Given the description of an element on the screen output the (x, y) to click on. 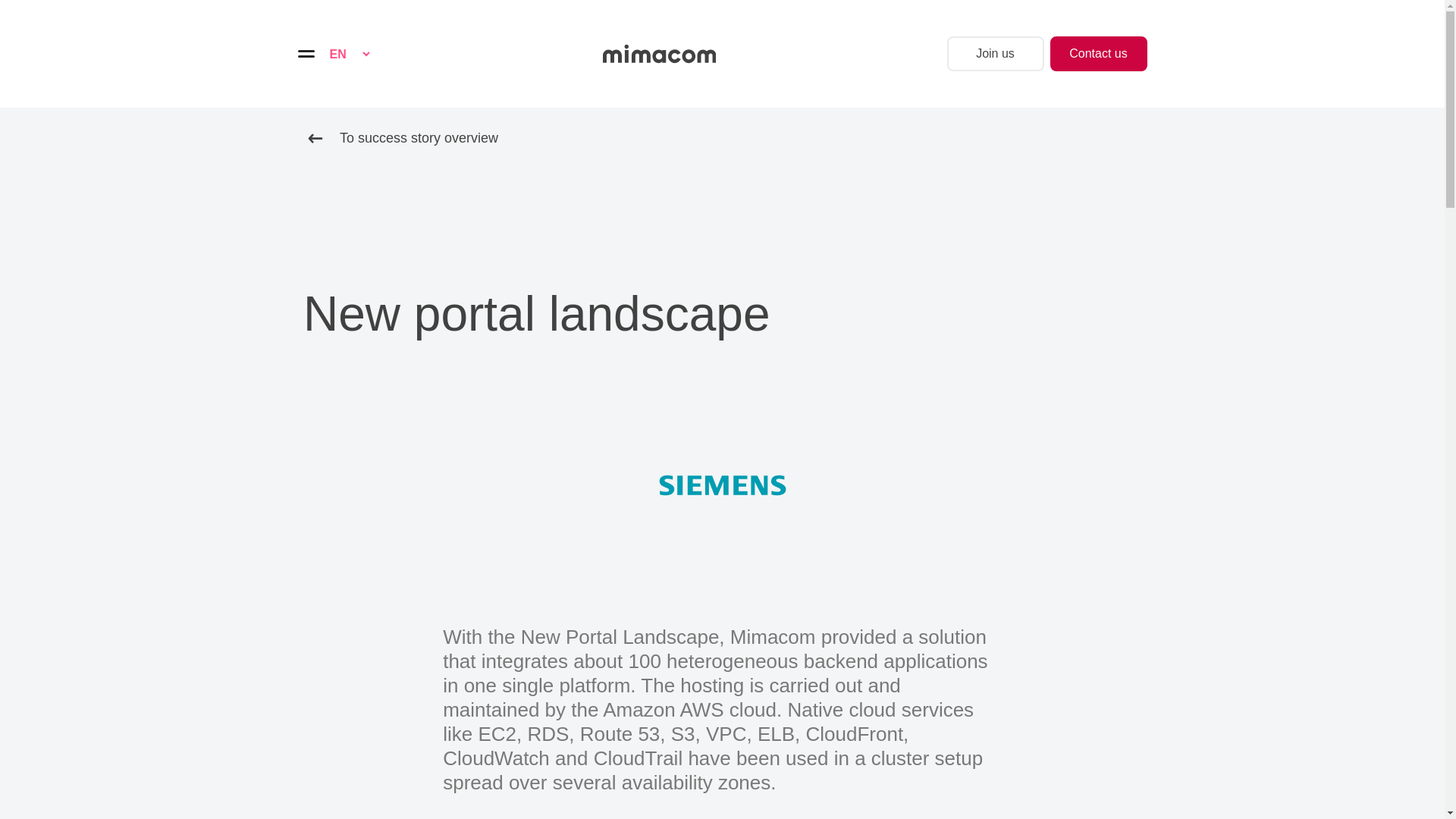
Contact us (1098, 53)
To success story overview (399, 137)
Toggle Navigation (305, 53)
Go to homepage (659, 53)
Join us (994, 53)
